Given the description of an element on the screen output the (x, y) to click on. 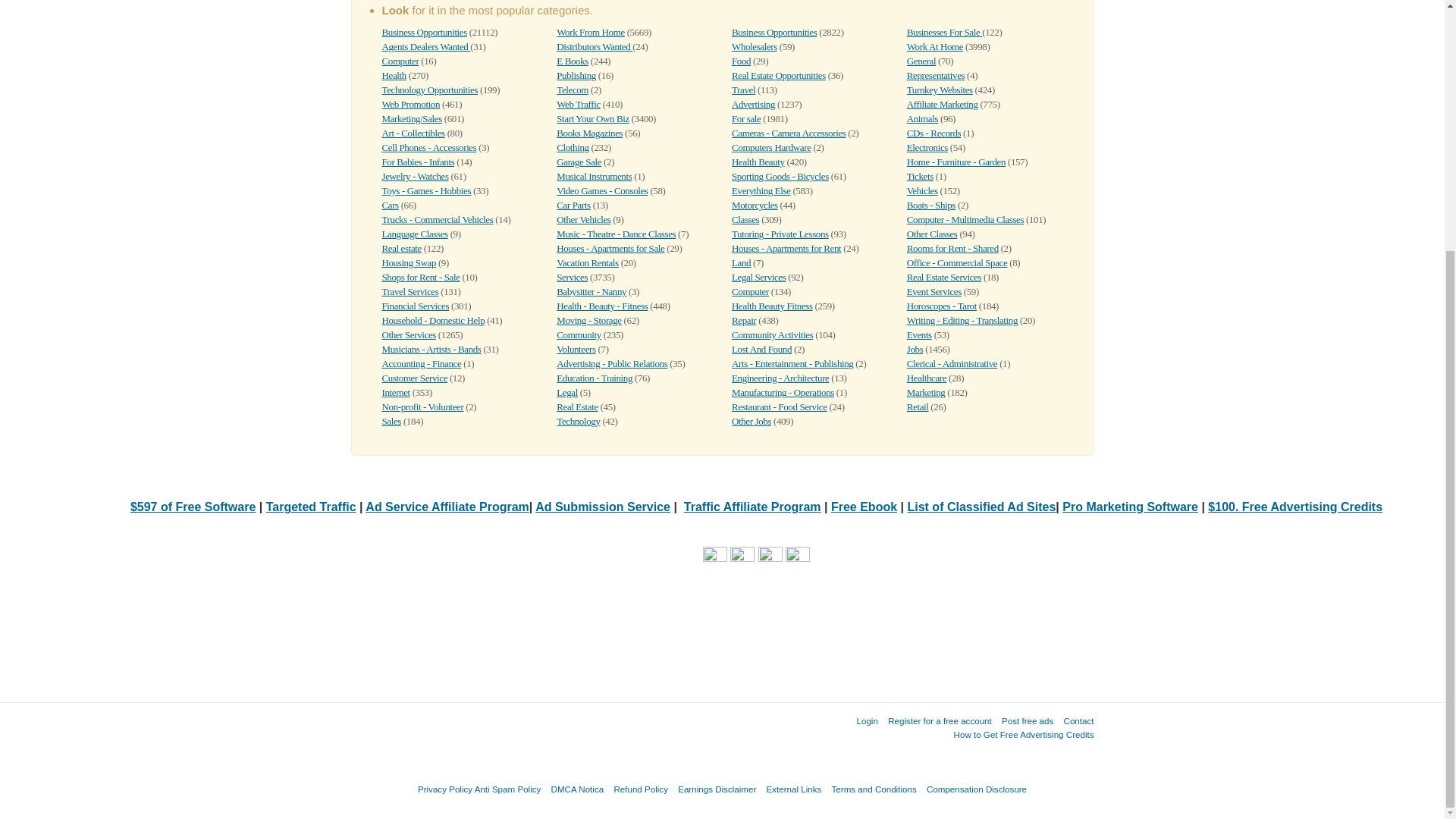
CDs - Records (933, 132)
Advertising (753, 103)
Web Traffic (577, 103)
Start Your Own Biz (592, 118)
Businesses For Sale (944, 31)
Clothing (572, 147)
Books Magazines (589, 132)
Animals (922, 118)
Distributors Wanted (593, 46)
General (921, 60)
Telecom (572, 89)
Affiliate Marketing (942, 103)
Agents Dealers Wanted (425, 46)
Cameras - Camera Accessories (788, 132)
Technology Opportunities (430, 89)
